Given the description of an element on the screen output the (x, y) to click on. 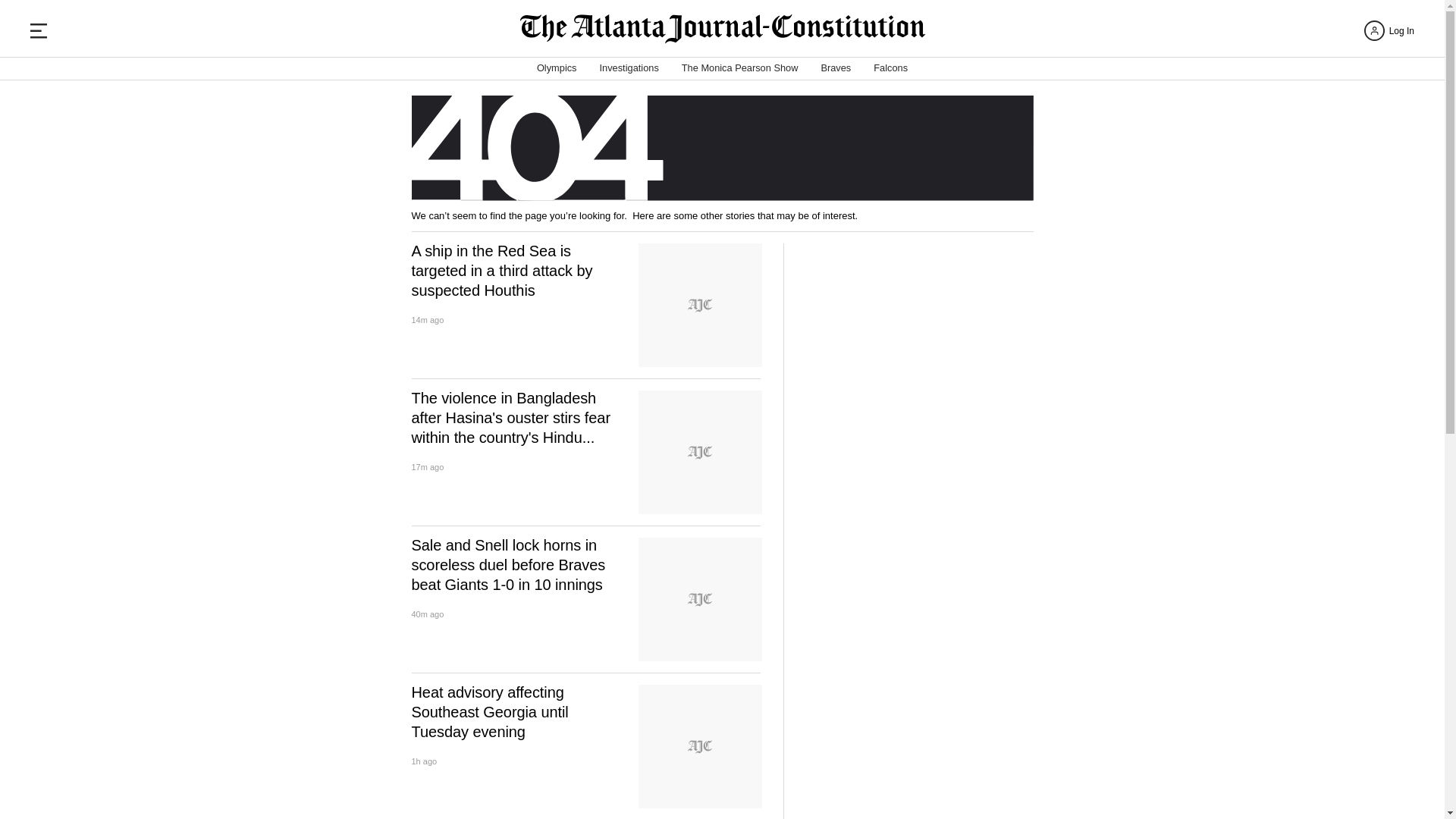
The Monica Pearson Show (739, 68)
Olympics (556, 68)
Falcons (890, 68)
Investigations (629, 68)
Braves (835, 68)
